Given the description of an element on the screen output the (x, y) to click on. 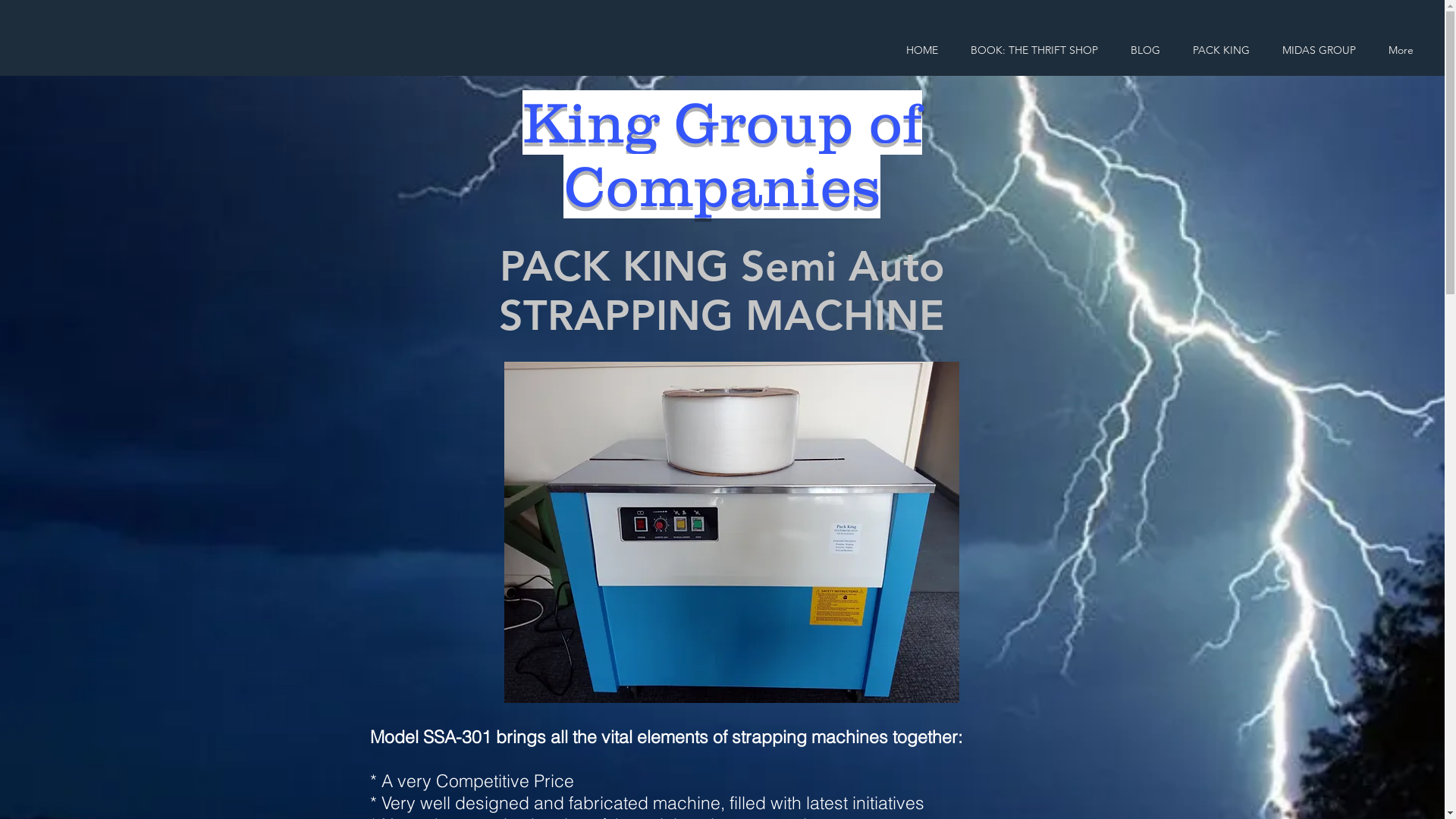
MIDAS GROUP Element type: text (1318, 50)
HOME Element type: text (921, 50)
PACK KING Element type: text (1220, 50)
BOOK: THE THRIFT SHOP Element type: text (1033, 50)
BLOG Element type: text (1144, 50)
